Given the description of an element on the screen output the (x, y) to click on. 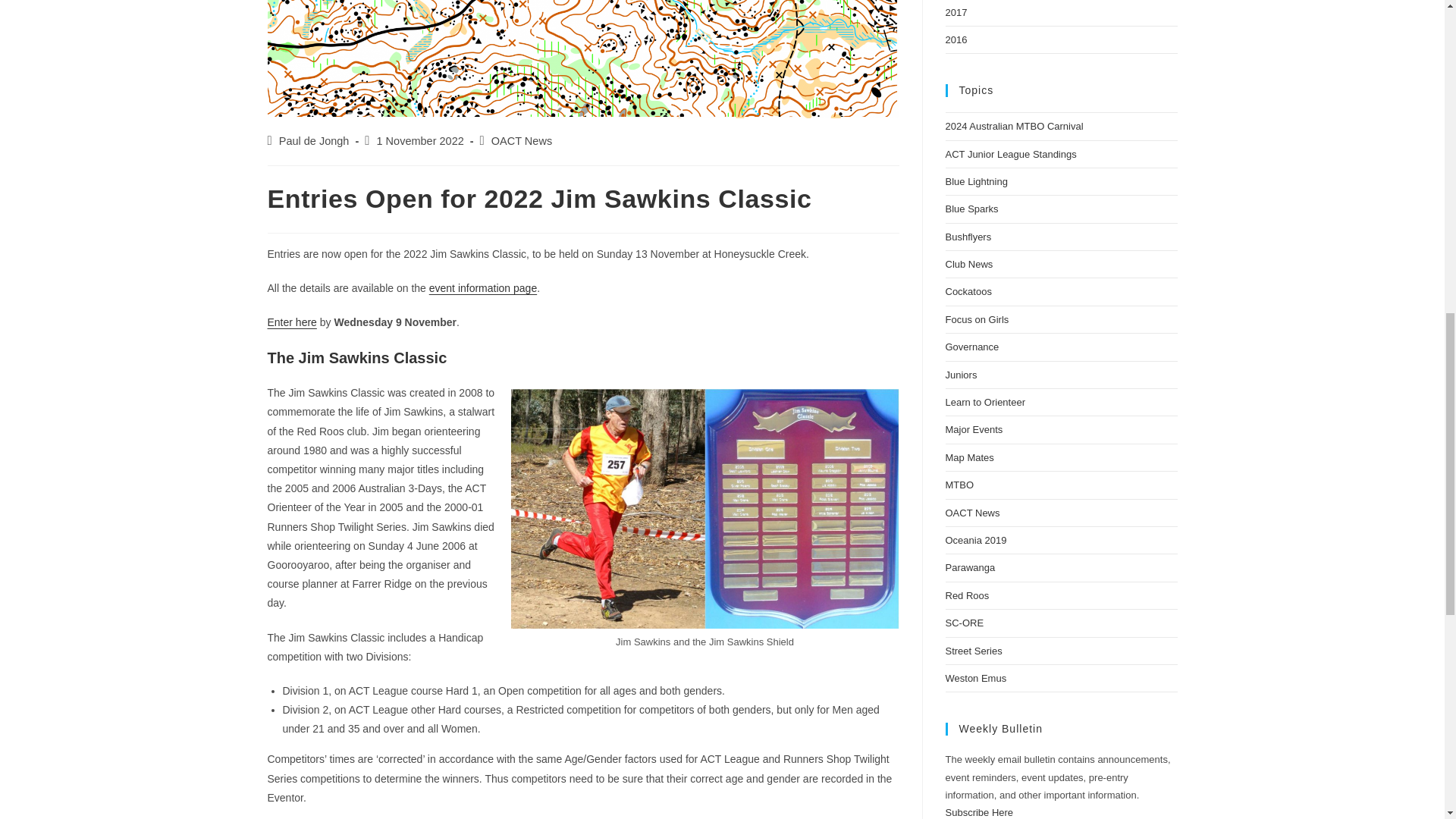
Posts by Paul de Jongh (314, 141)
